Given the description of an element on the screen output the (x, y) to click on. 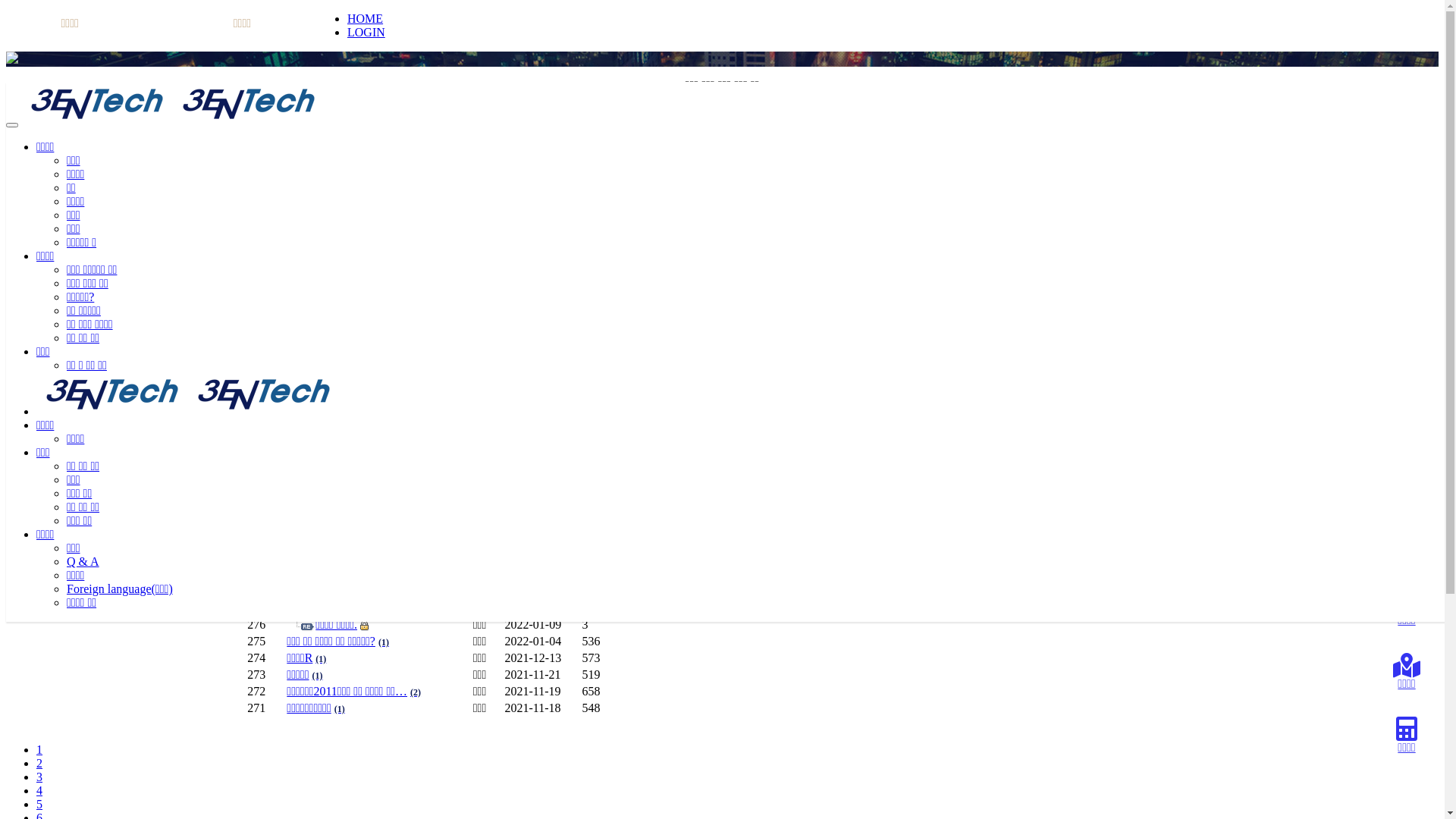
(1) Element type: text (312, 357)
(1) Element type: text (309, 407)
(1) Element type: text (343, 273)
(1) Element type: text (360, 307)
Q & A Element type: text (89, 210)
(1) Element type: text (319, 373)
(1) Element type: text (317, 674)
1 Element type: text (39, 749)
3 Element type: text (39, 776)
LOGIN Element type: text (366, 31)
(1) Element type: text (358, 240)
(1) Element type: text (339, 707)
HOME Element type: text (364, 18)
Toggle navigation Element type: text (12, 124)
2 Element type: text (39, 762)
(1) Element type: text (406, 523)
(1) Element type: text (314, 390)
(1) Element type: text (350, 340)
(1) Element type: text (342, 507)
(1) Element type: text (363, 473)
(1) Element type: text (315, 290)
(1) Element type: text (329, 223)
(1) Element type: text (436, 423)
(1) Element type: text (391, 540)
(1) Element type: text (320, 657)
Q & A Element type: text (82, 561)
(1) Element type: text (368, 557)
(1) Element type: text (383, 640)
(2) Element type: text (415, 690)
5 Element type: text (39, 803)
4 Element type: text (39, 790)
(1) Element type: text (365, 257)
(1) Element type: text (391, 440)
(1) Element type: text (348, 457)
(1) Element type: text (348, 323)
(1) Element type: text (342, 490)
